Given the description of an element on the screen output the (x, y) to click on. 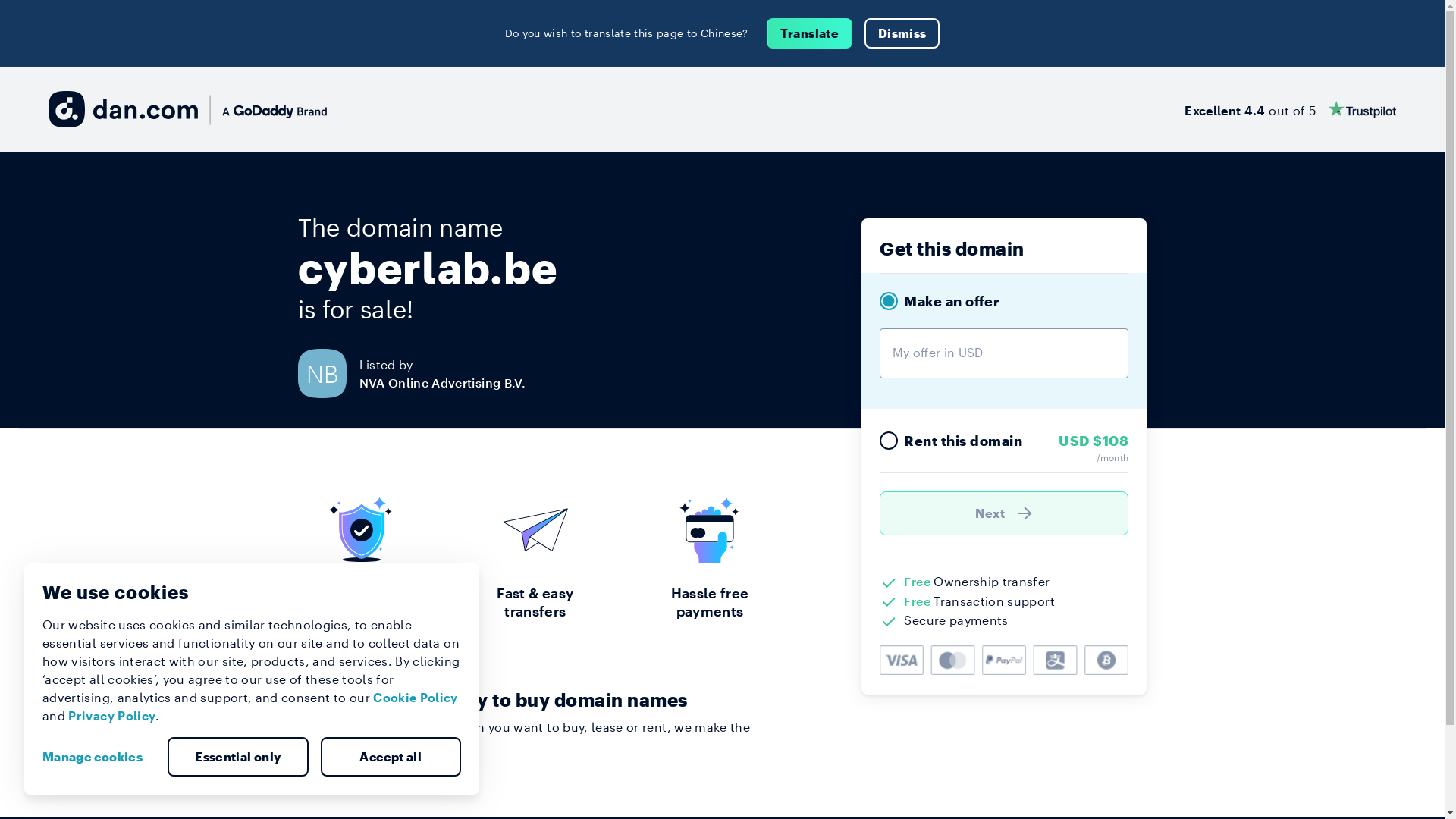
Privacy Policy Element type: text (111, 715)
Essential only Element type: text (237, 756)
Accept all Element type: text (390, 756)
Translate Element type: text (809, 33)
Manage cookies Element type: text (98, 756)
Dismiss Element type: text (901, 33)
Next
) Element type: text (1003, 513)
Excellent 4.4 out of 5 Element type: text (1290, 109)
Cookie Policy Element type: text (415, 697)
